Given the description of an element on the screen output the (x, y) to click on. 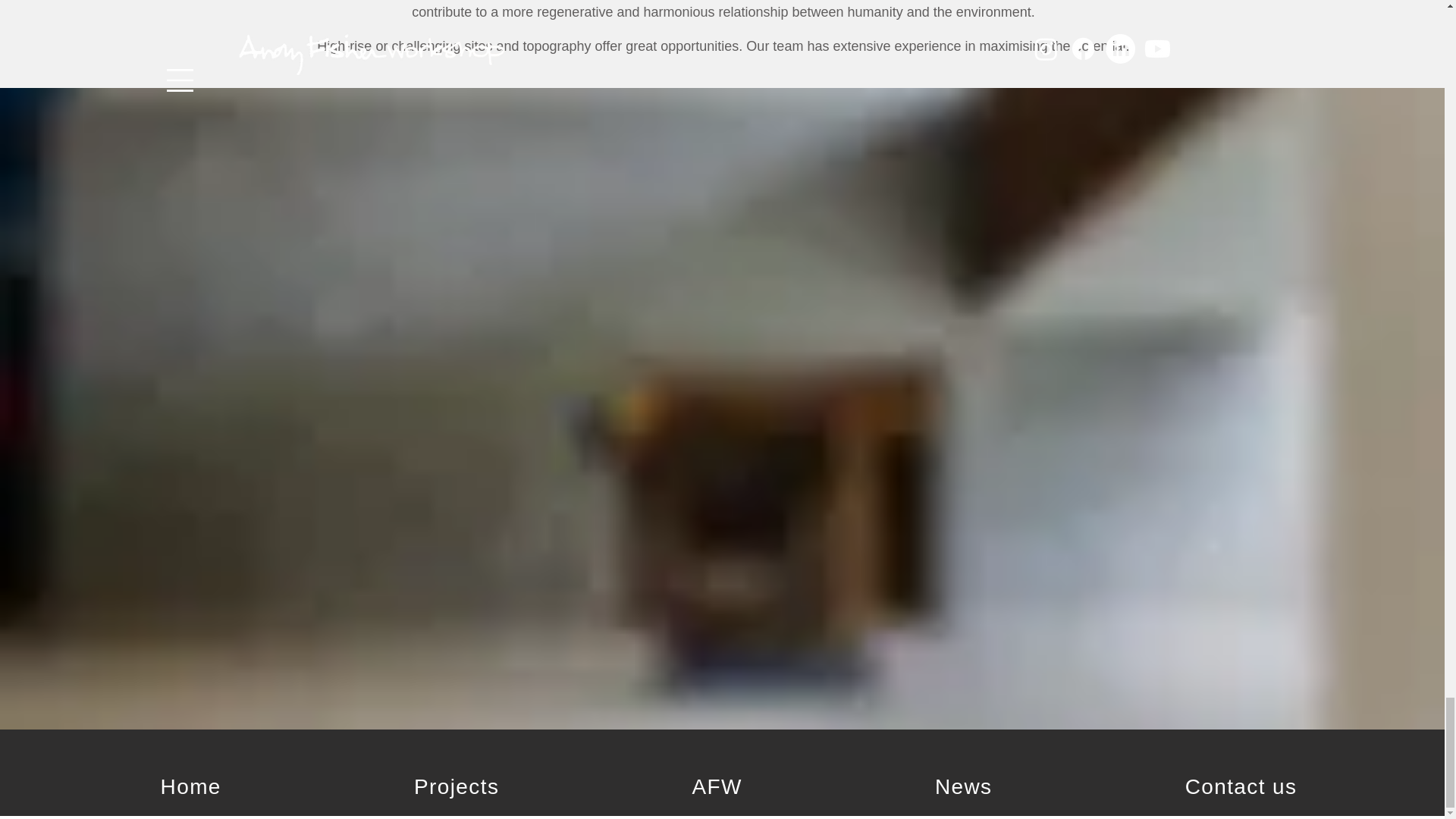
Projects (456, 786)
News (963, 786)
Contact us (1241, 786)
AFW (716, 786)
Home (190, 786)
